Given the description of an element on the screen output the (x, y) to click on. 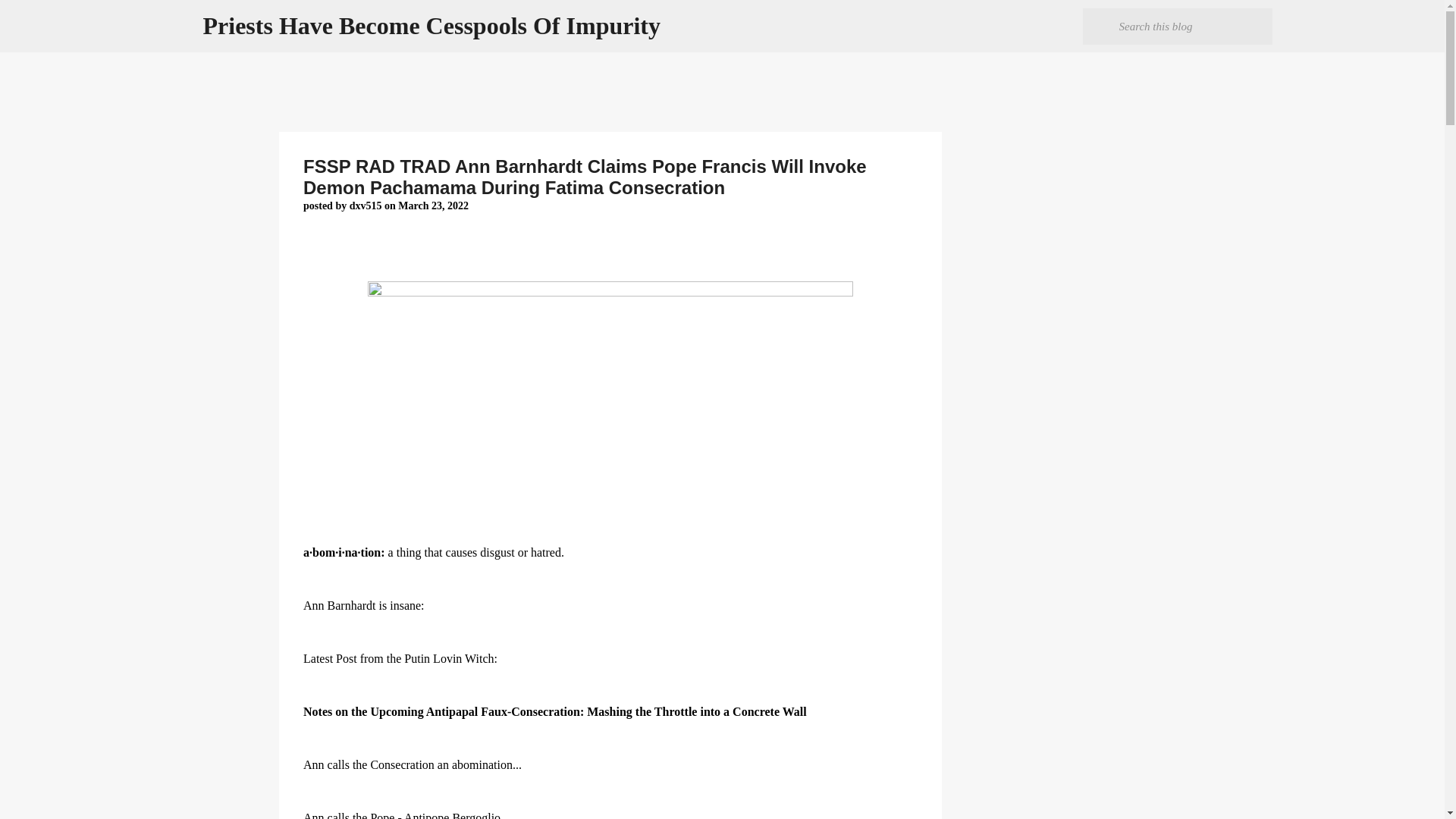
permanent link (432, 205)
dxv515 (366, 205)
author profile (366, 205)
March 23, 2022 (432, 205)
Priests Have Become Cesspools Of Impurity (432, 25)
